Given the description of an element on the screen output the (x, y) to click on. 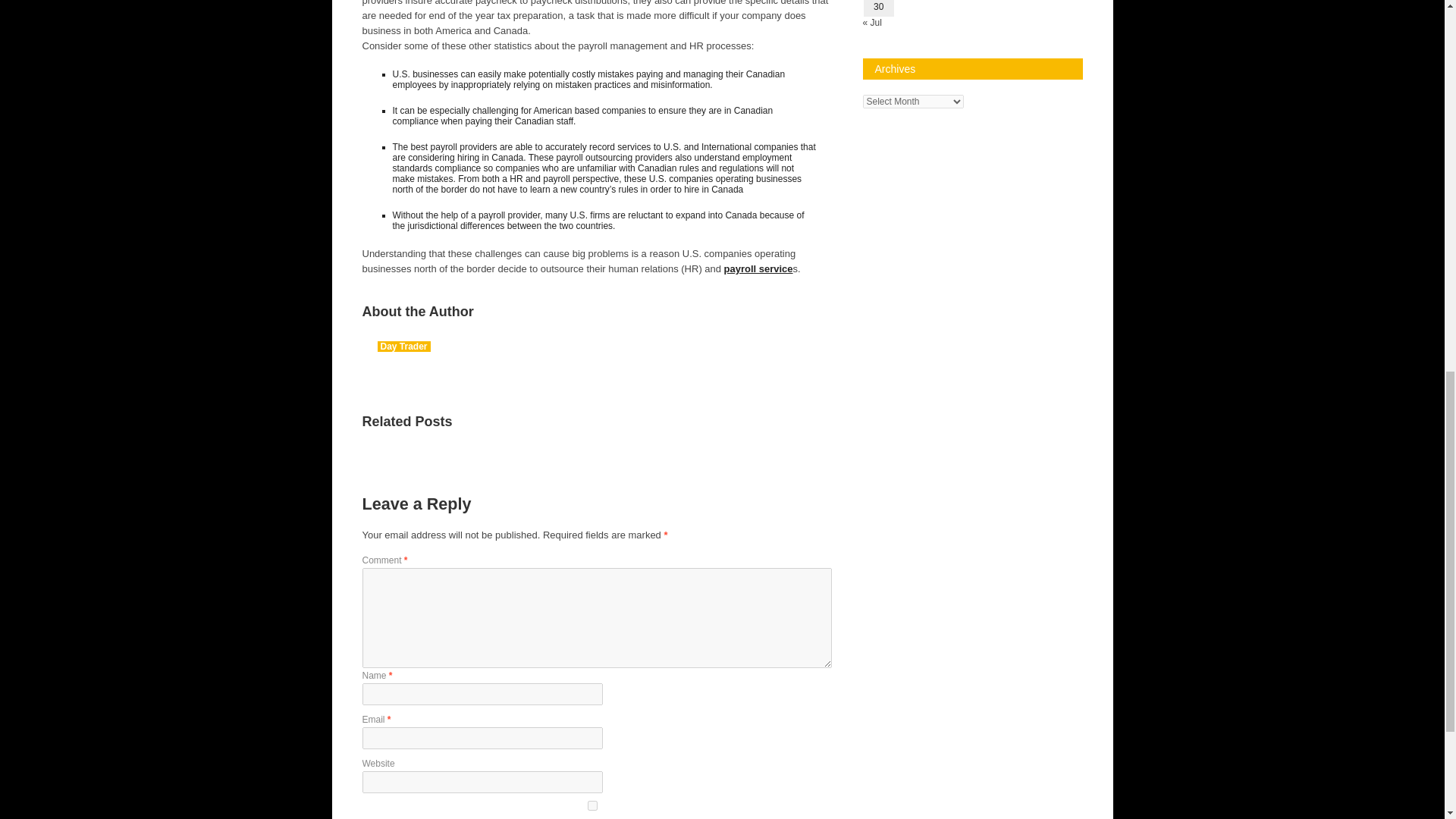
Find more related to Payroll service company (758, 268)
Posts by Day Trader (403, 346)
Day Trader (403, 346)
payroll service (758, 268)
yes (593, 805)
